Given the description of an element on the screen output the (x, y) to click on. 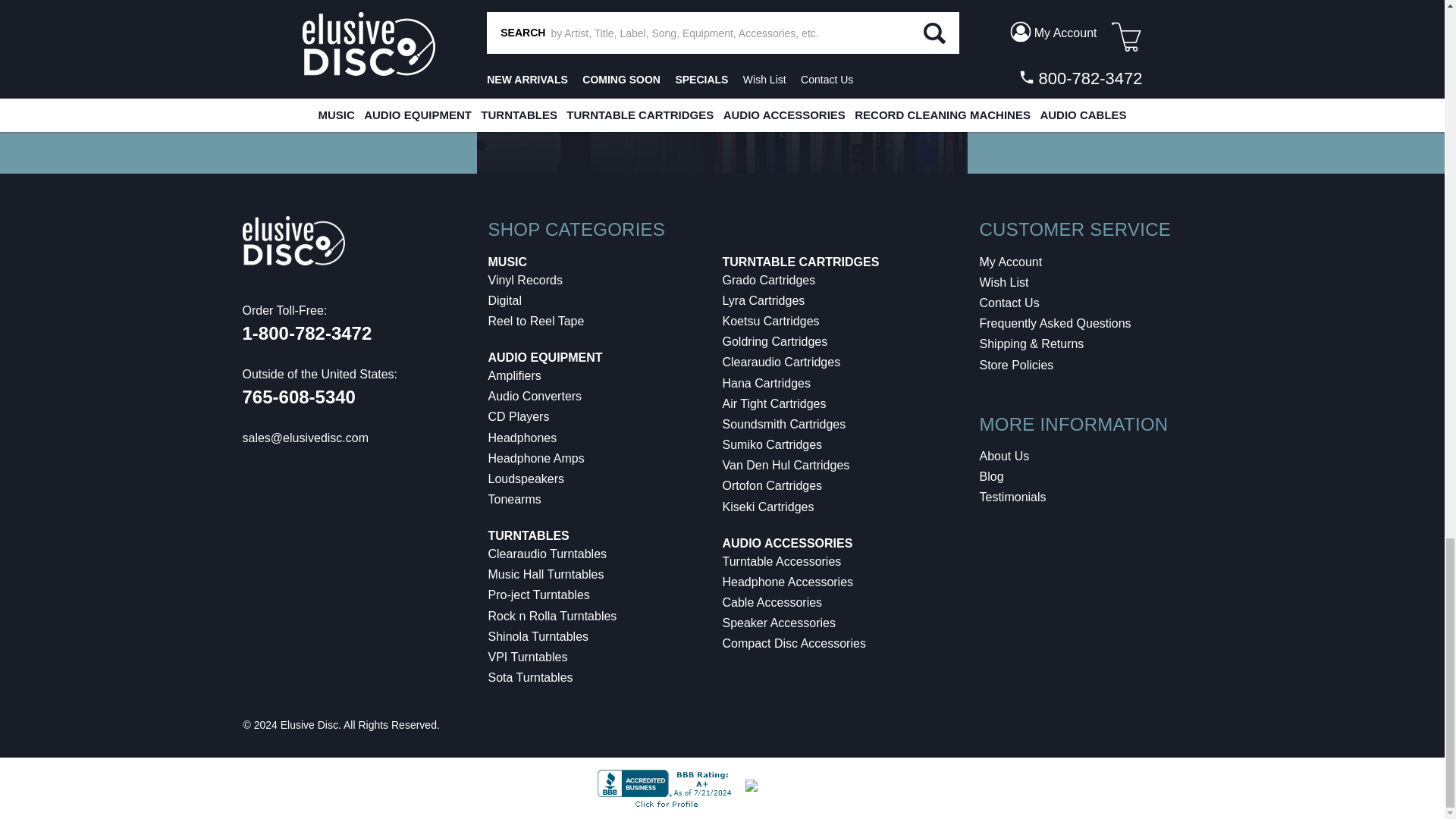
Digital (504, 300)
Sign Up (1323, 77)
Audio Converter (534, 395)
Loudspeakers (525, 478)
Vinyl Records (524, 279)
Headphones (522, 437)
Headphone Amp (536, 458)
Reel to Reel Tape (536, 320)
Amplifiers (514, 375)
CD Players (518, 416)
Tonearm (514, 499)
